Given the description of an element on the screen output the (x, y) to click on. 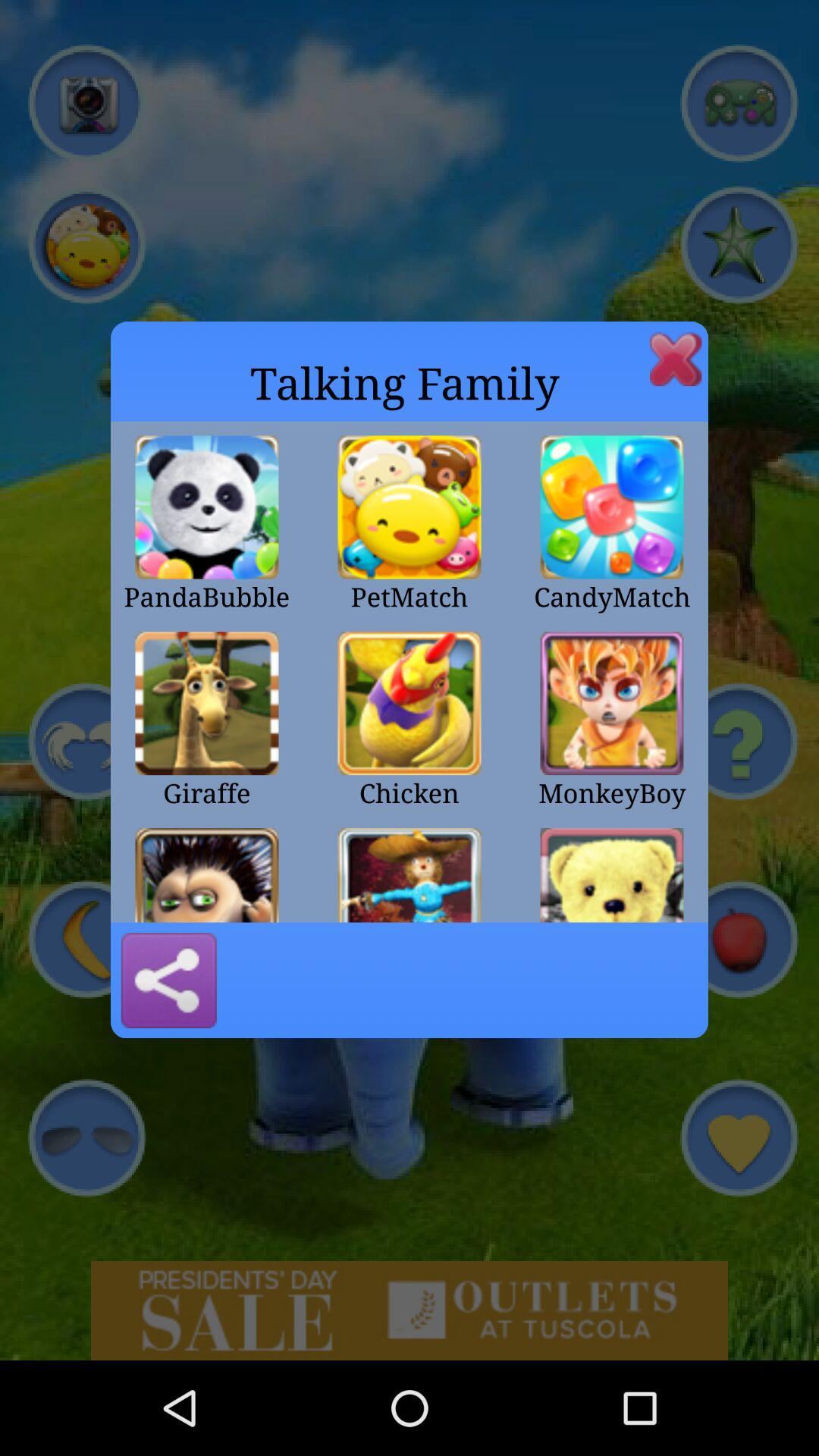
close this window (675, 359)
